Given the description of an element on the screen output the (x, y) to click on. 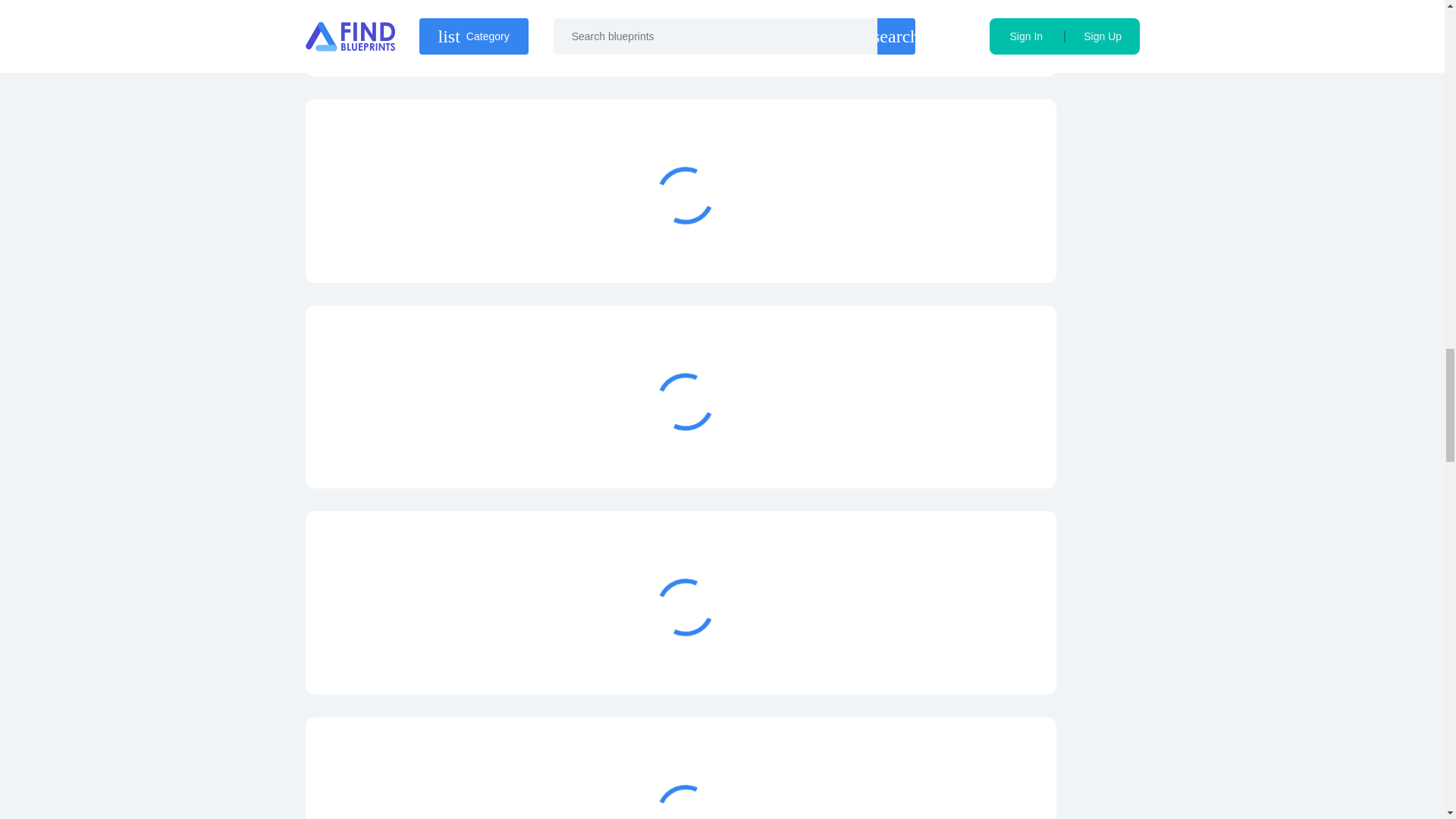
More (962, 246)
More (962, 40)
